Given the description of an element on the screen output the (x, y) to click on. 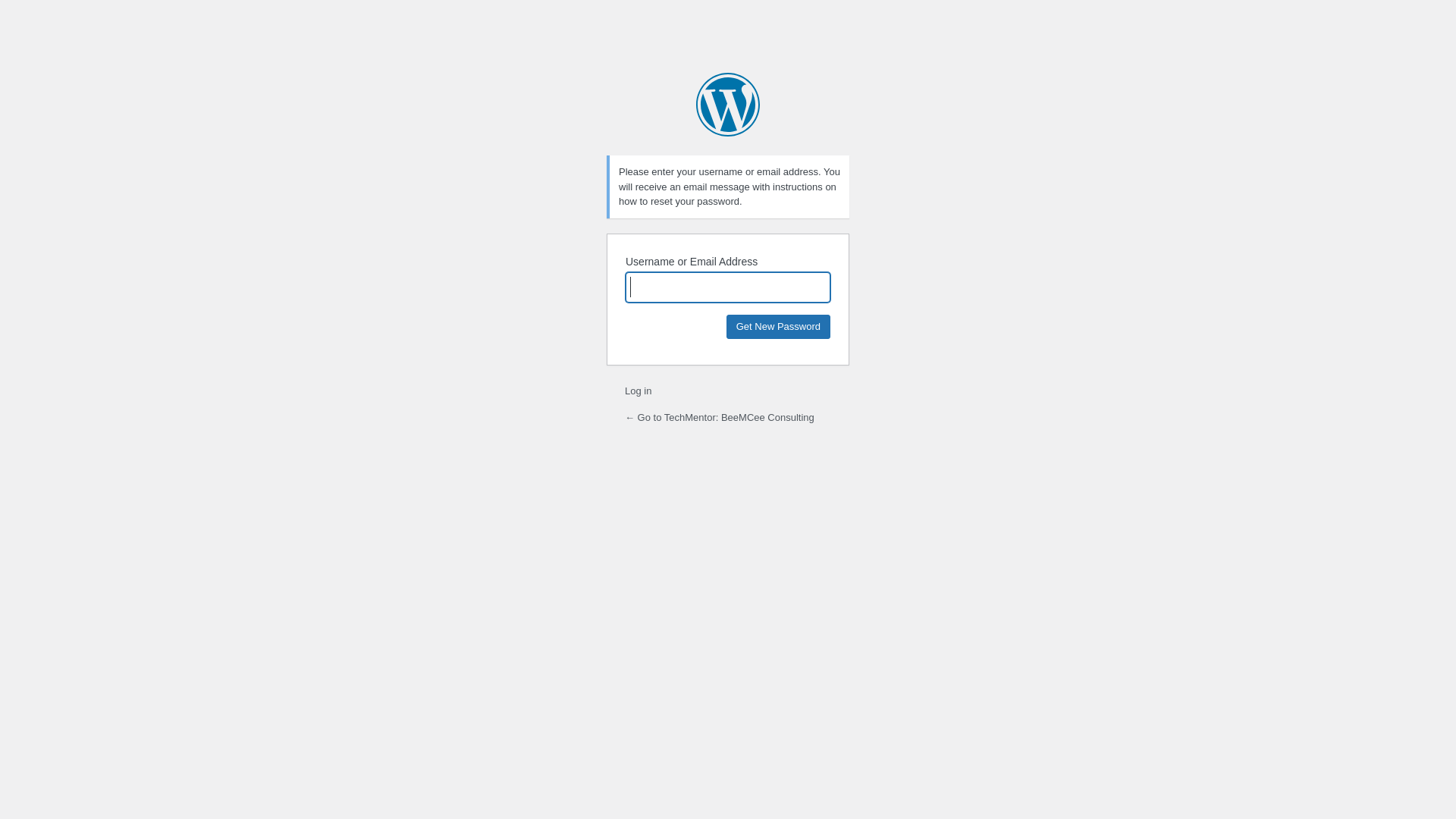
Log in Element type: text (637, 390)
Powered by WordPress Element type: text (727, 104)
Get New Password Element type: text (778, 325)
